Given the description of an element on the screen output the (x, y) to click on. 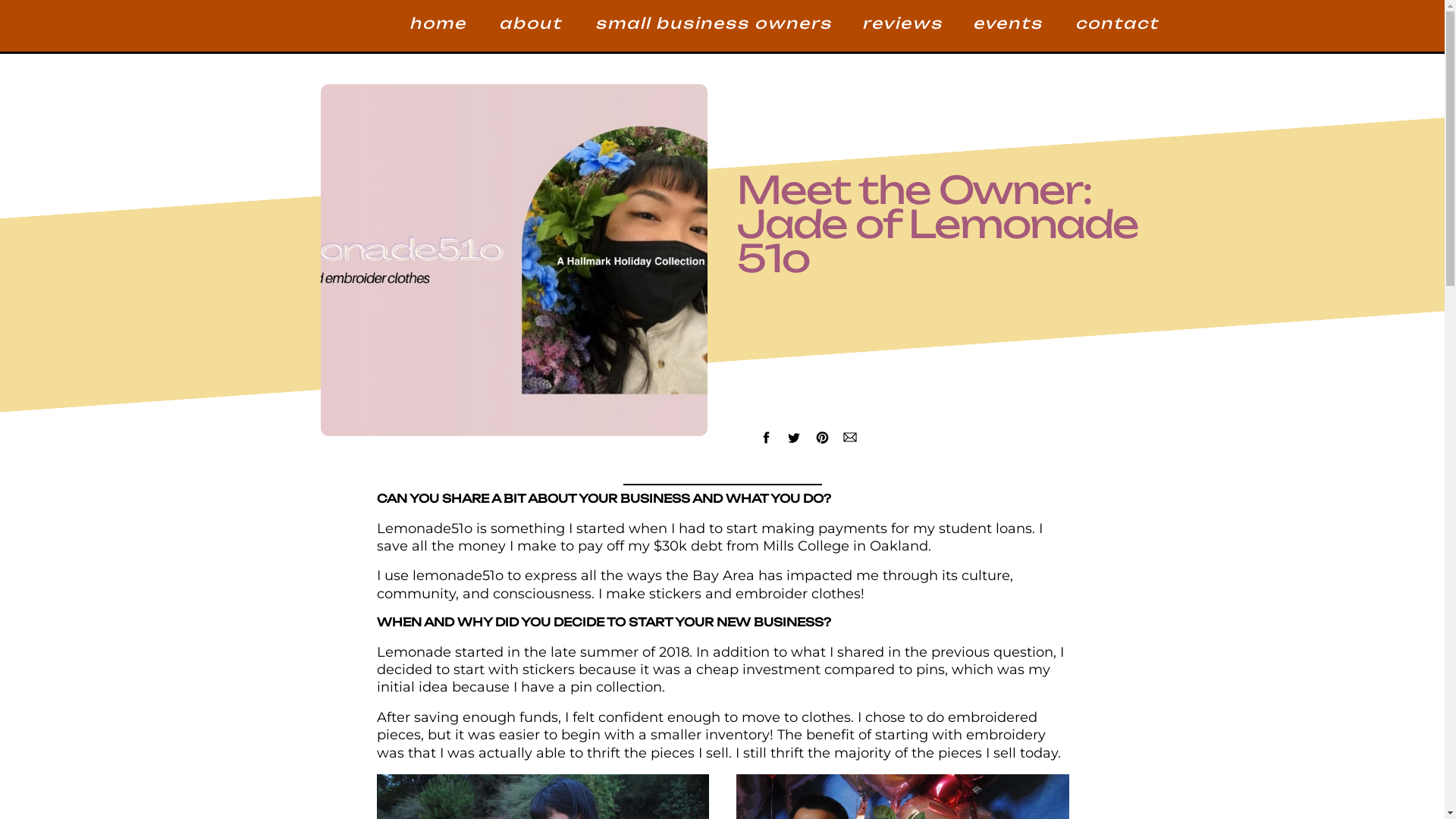
events Element type: text (1008, 26)
about Element type: text (531, 26)
contact Element type: text (1113, 26)
home Element type: text (438, 26)
reviews Element type: text (901, 26)
small business owners Element type: text (712, 24)
